Given the description of an element on the screen output the (x, y) to click on. 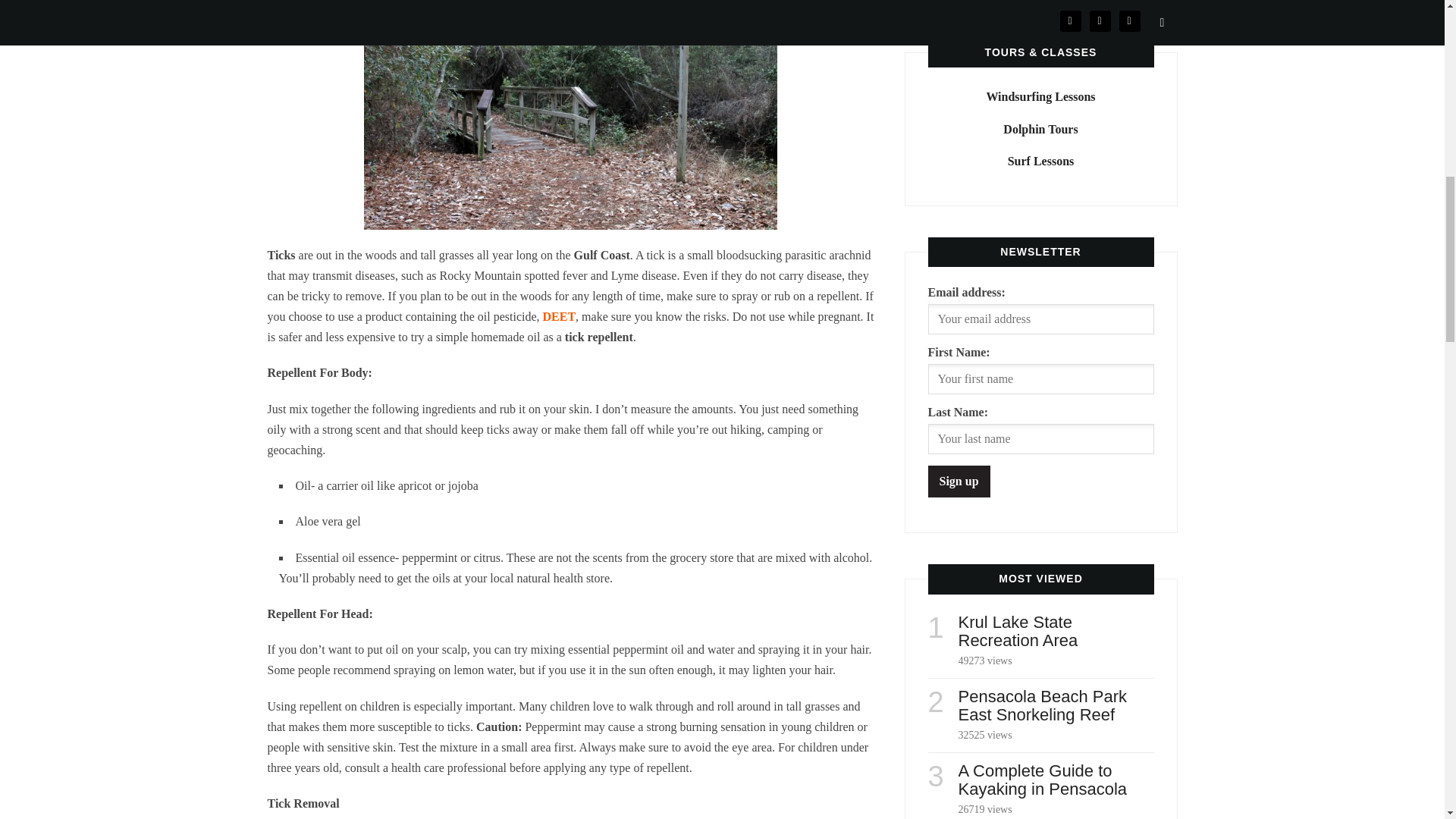
Permanent Link to Krul Lake State Recreation Area (1018, 631)
Jones Wetlands and Nature Trail (570, 115)
Permanent Link to Pensacola Beach Park East Snorkeling Reef (1042, 705)
Permanent Link to A Complete Guide to Kayaking in Pensacola (1042, 779)
Sign up (959, 481)
